Given the description of an element on the screen output the (x, y) to click on. 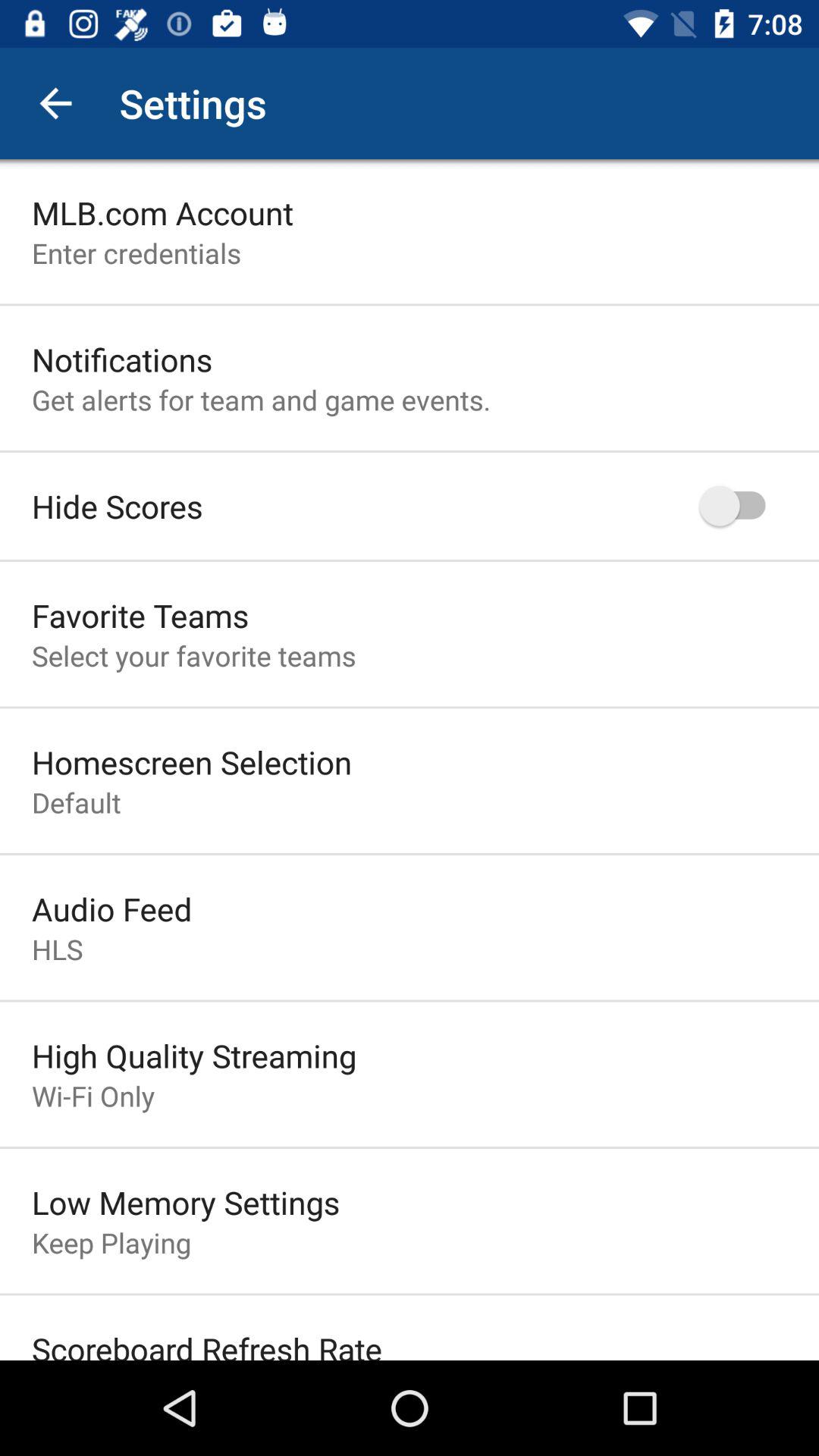
select the item next to the hide scores item (739, 505)
